Given the description of an element on the screen output the (x, y) to click on. 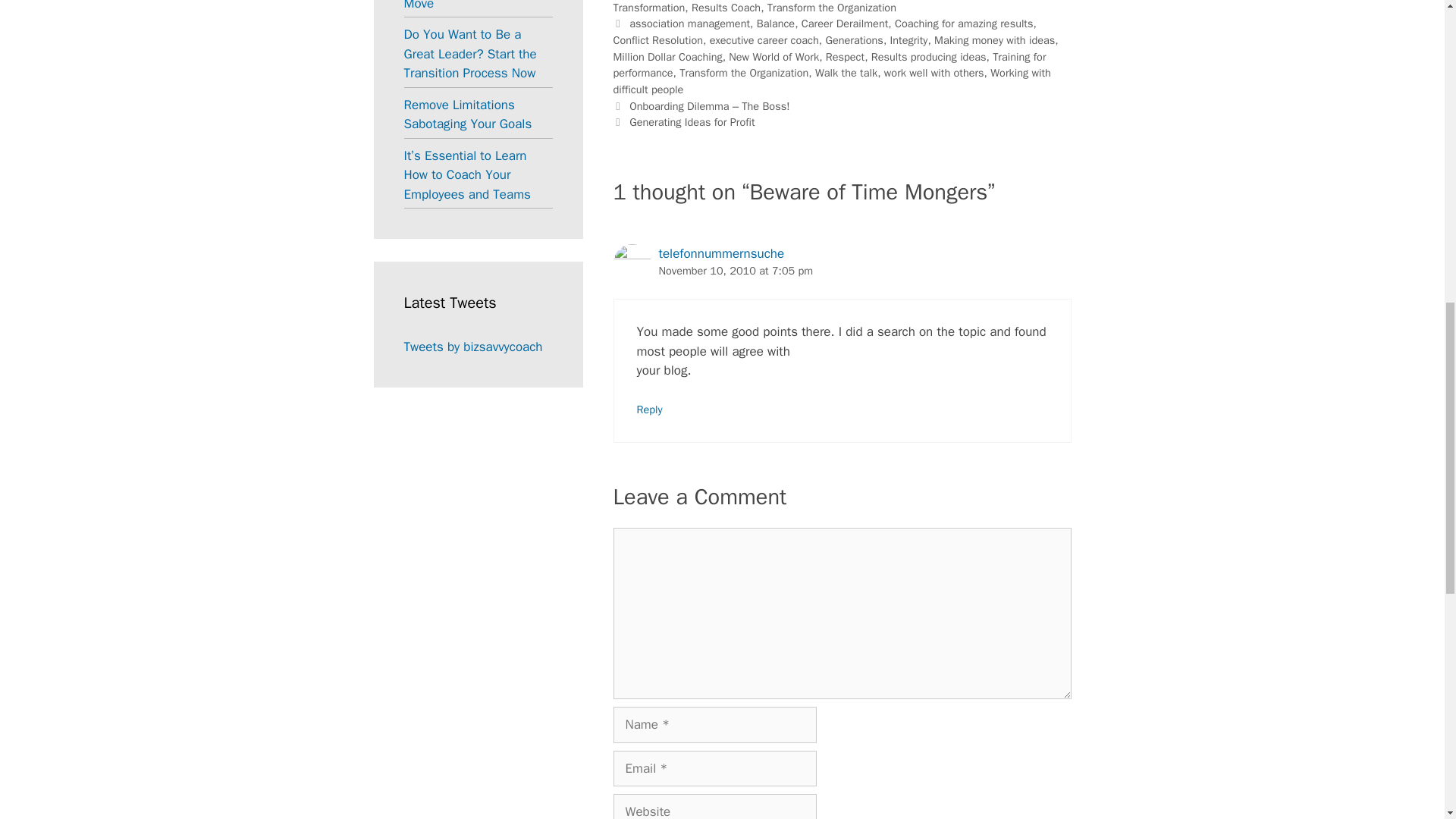
Personal Transformation (820, 7)
association management (688, 23)
Results Coach (725, 7)
Balance (775, 23)
Scroll back to top (1406, 720)
Transform the Organization (831, 7)
